Given the description of an element on the screen output the (x, y) to click on. 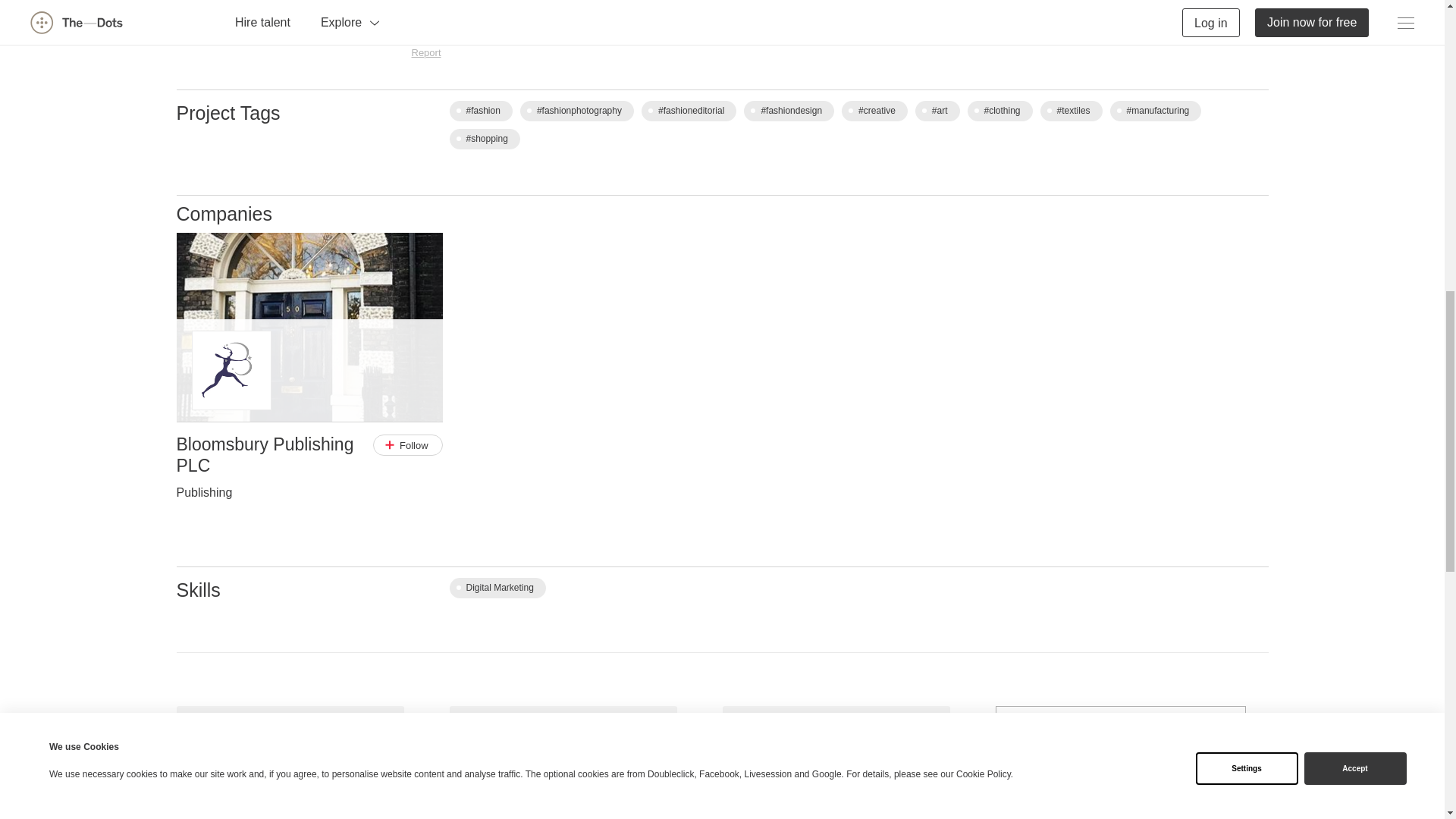
Follow (407, 444)
Digital Marketing (496, 588)
Report (425, 52)
